Given the description of an element on the screen output the (x, y) to click on. 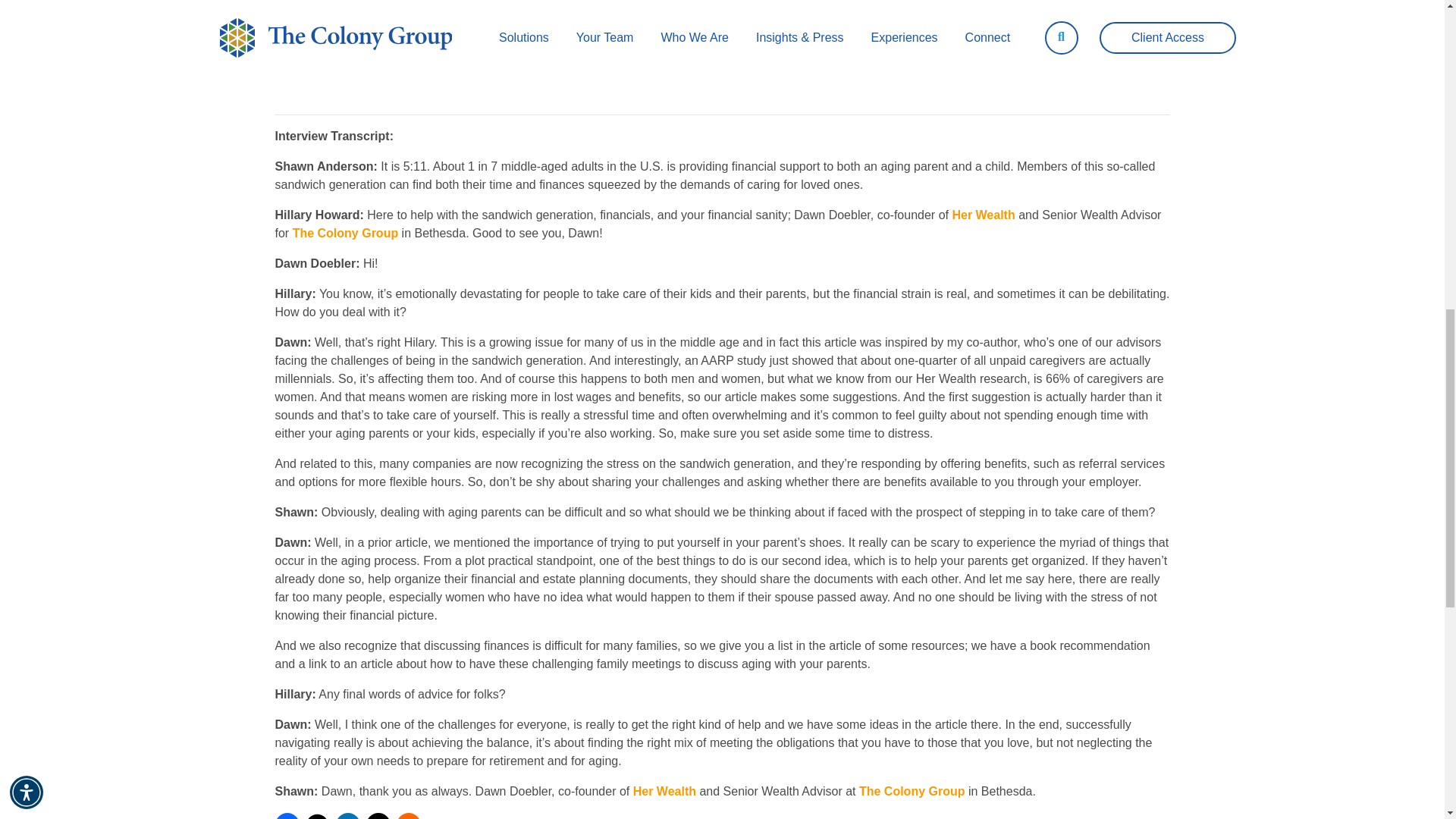
Add this to LinkedIn (346, 816)
Share this on Facebook (286, 816)
More share links (408, 816)
Email this  (377, 816)
Tweet this ! (316, 816)
